Given the description of an element on the screen output the (x, y) to click on. 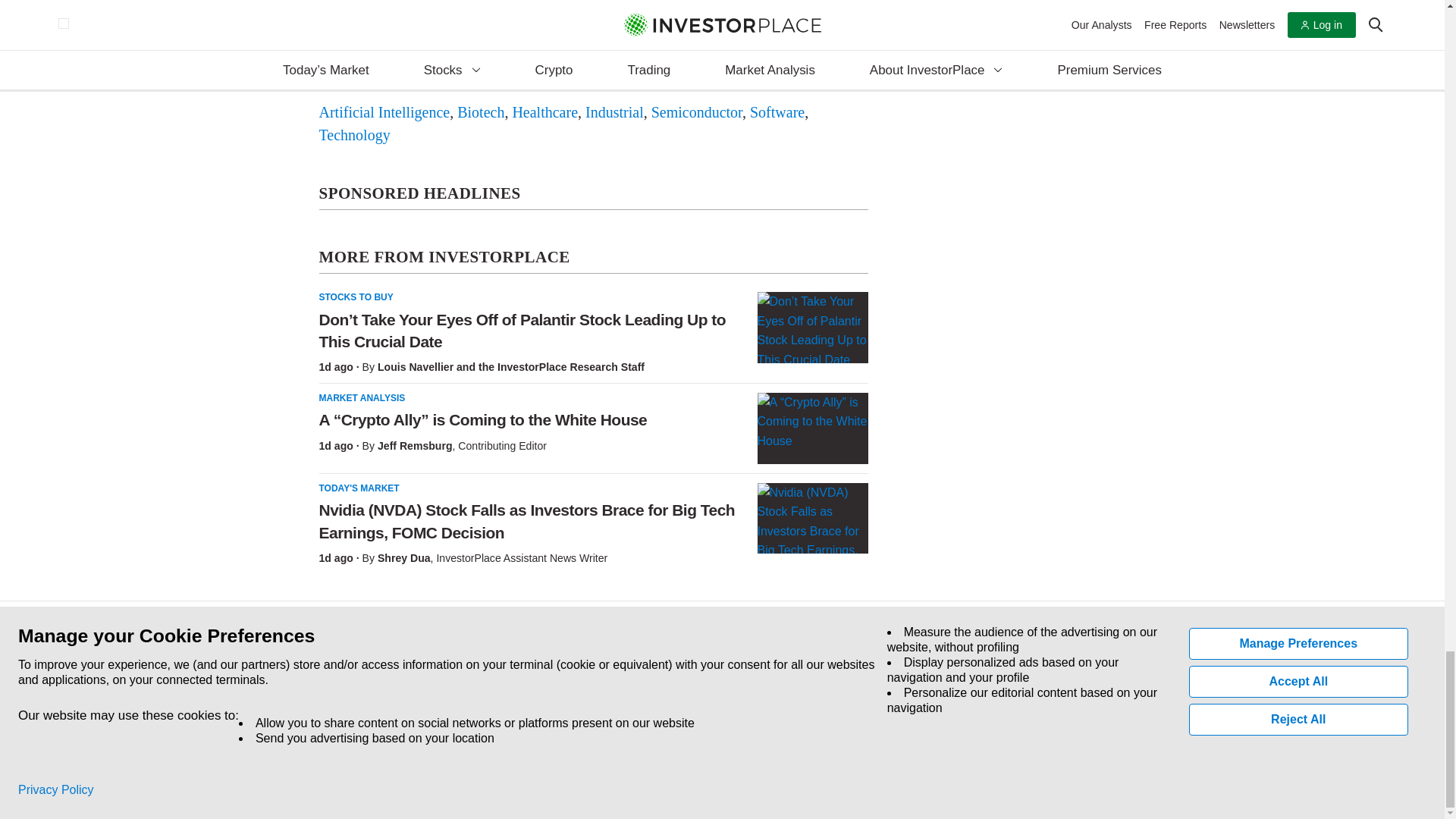
Articles from Biotech industry (480, 111)
Articles from Software industry (777, 111)
Articles from Healthcare industry (545, 111)
Articles from Industrial industry (614, 111)
Articles from Semiconductor industry (696, 111)
Articles from Artificial Intelligence industry (383, 111)
Visit our Facebook Page (319, 710)
Articles from Technology industry (354, 134)
View profile of Jeff Remsburg (414, 445)
View profile of Shrey Dua (403, 558)
